Given the description of an element on the screen output the (x, y) to click on. 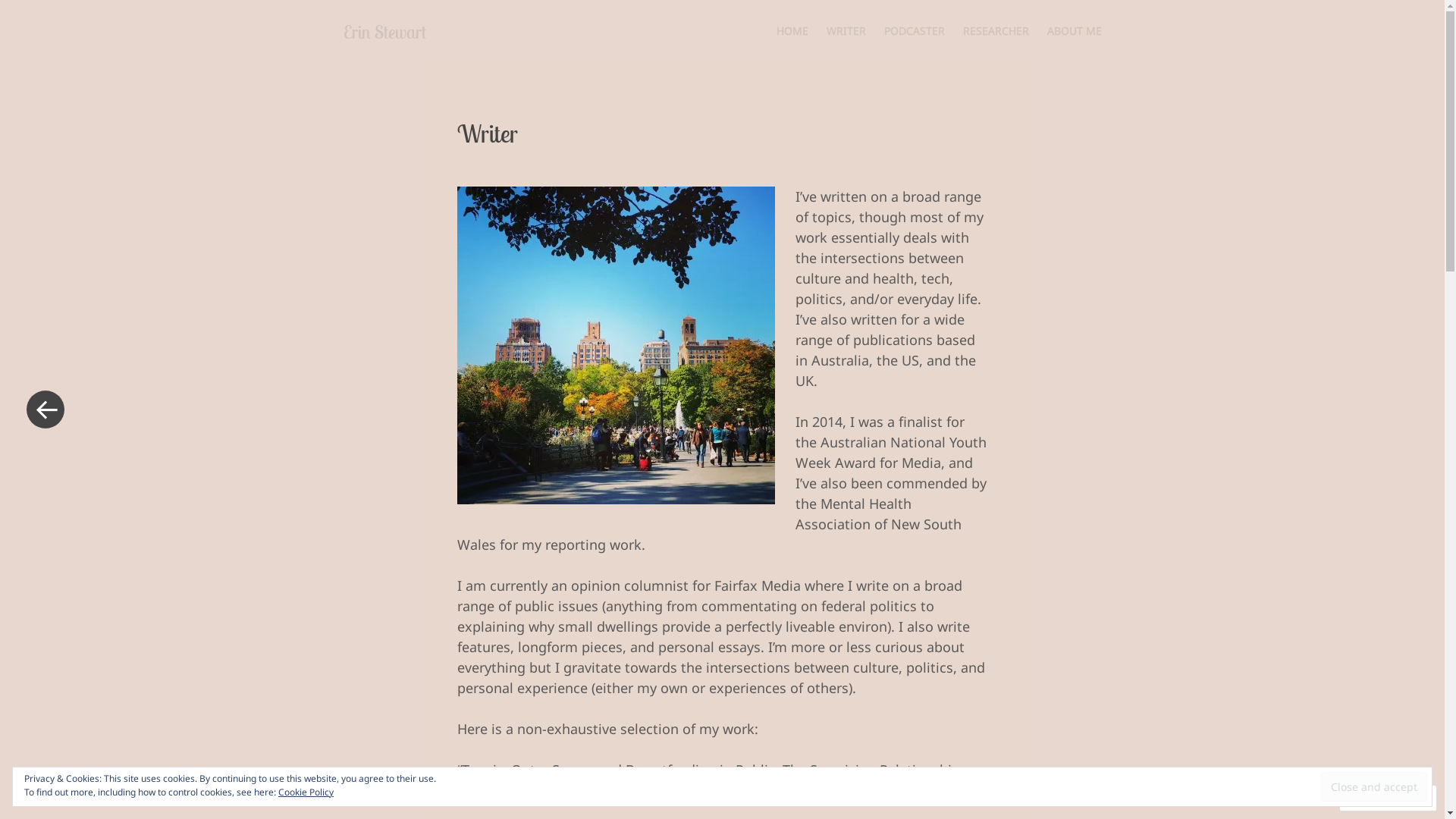
Cookie Policy Element type: text (305, 791)
Follow Element type: text (1373, 797)
ABOUT ME Element type: text (1073, 30)
Close and accept Element type: text (1374, 786)
Balancing Acts: Women in Sport Element type: text (837, 790)
PODCASTER Element type: text (914, 30)
WRITER Element type: text (846, 30)
HOME Element type: text (792, 30)
RESEARCHER Element type: text (996, 30)
Erin Stewart Element type: text (383, 31)
